Given the description of an element on the screen output the (x, y) to click on. 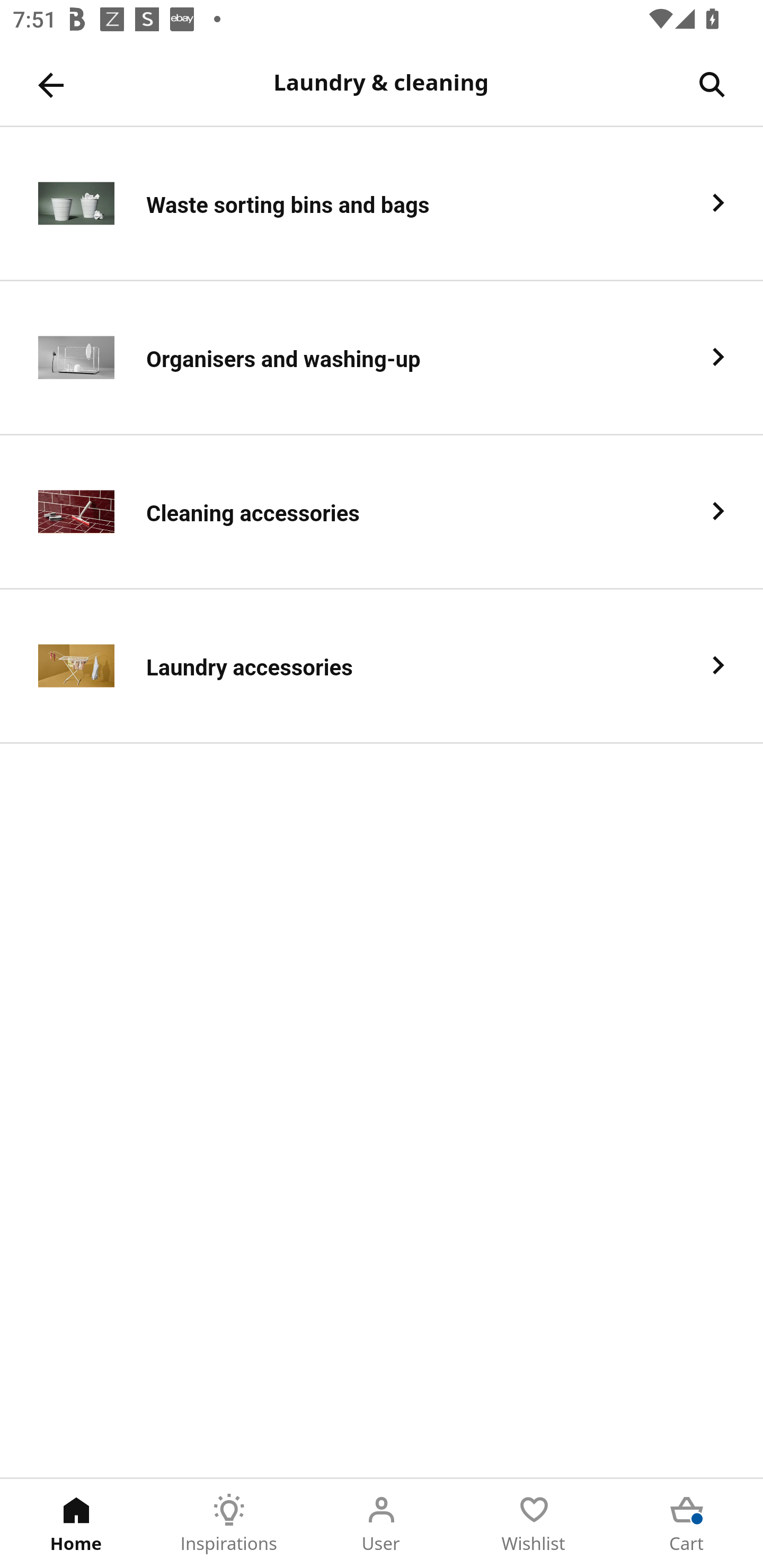
Waste sorting bins and bags (381, 203)
Organisers and washing-up (381, 357)
Cleaning accessories (381, 512)
Laundry accessories (381, 666)
Home
Tab 1 of 5 (76, 1522)
Inspirations
Tab 2 of 5 (228, 1522)
User
Tab 3 of 5 (381, 1522)
Wishlist
Tab 4 of 5 (533, 1522)
Cart
Tab 5 of 5 (686, 1522)
